Given the description of an element on the screen output the (x, y) to click on. 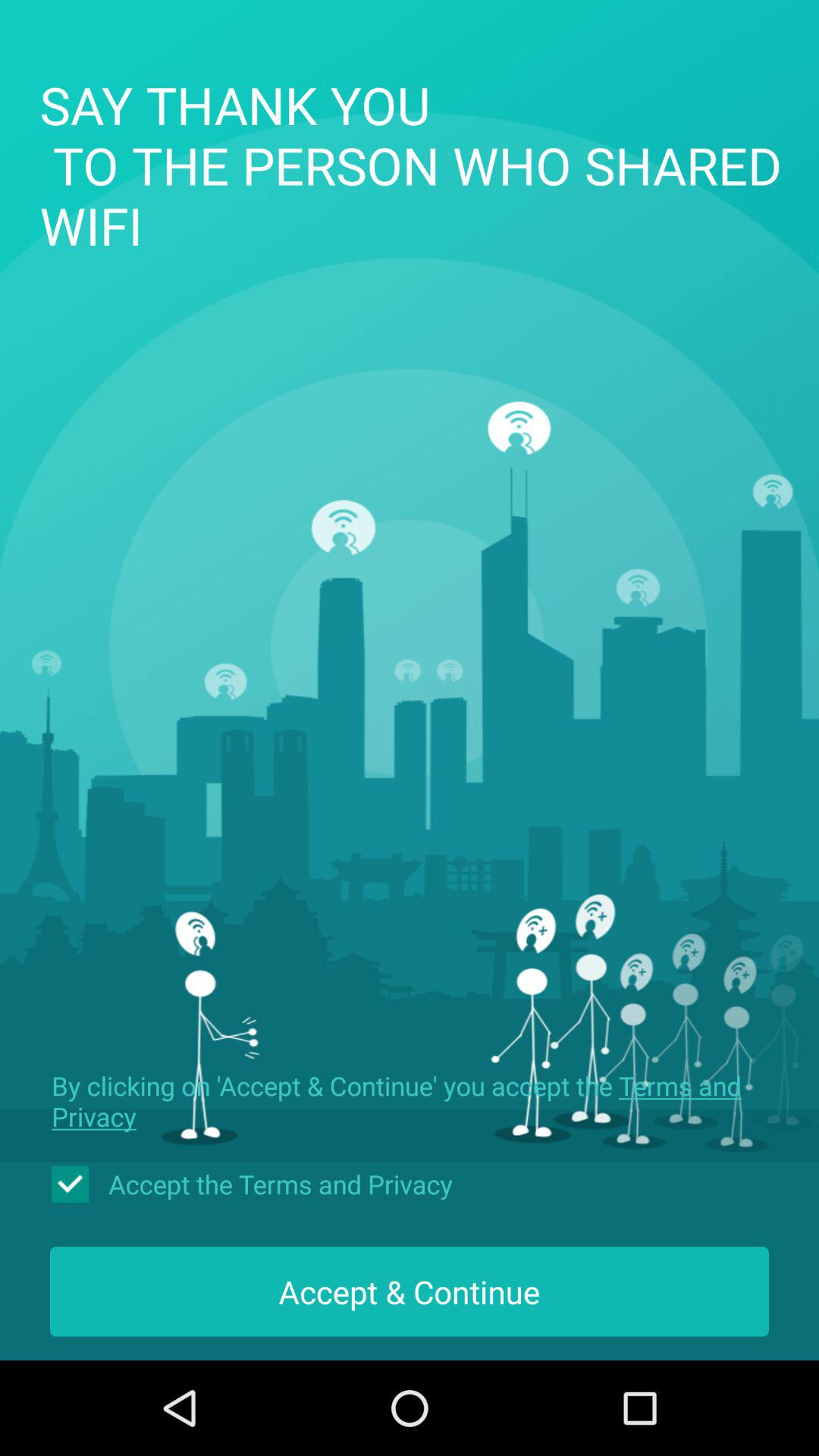
select the by clicking on icon (409, 1101)
